Given the description of an element on the screen output the (x, y) to click on. 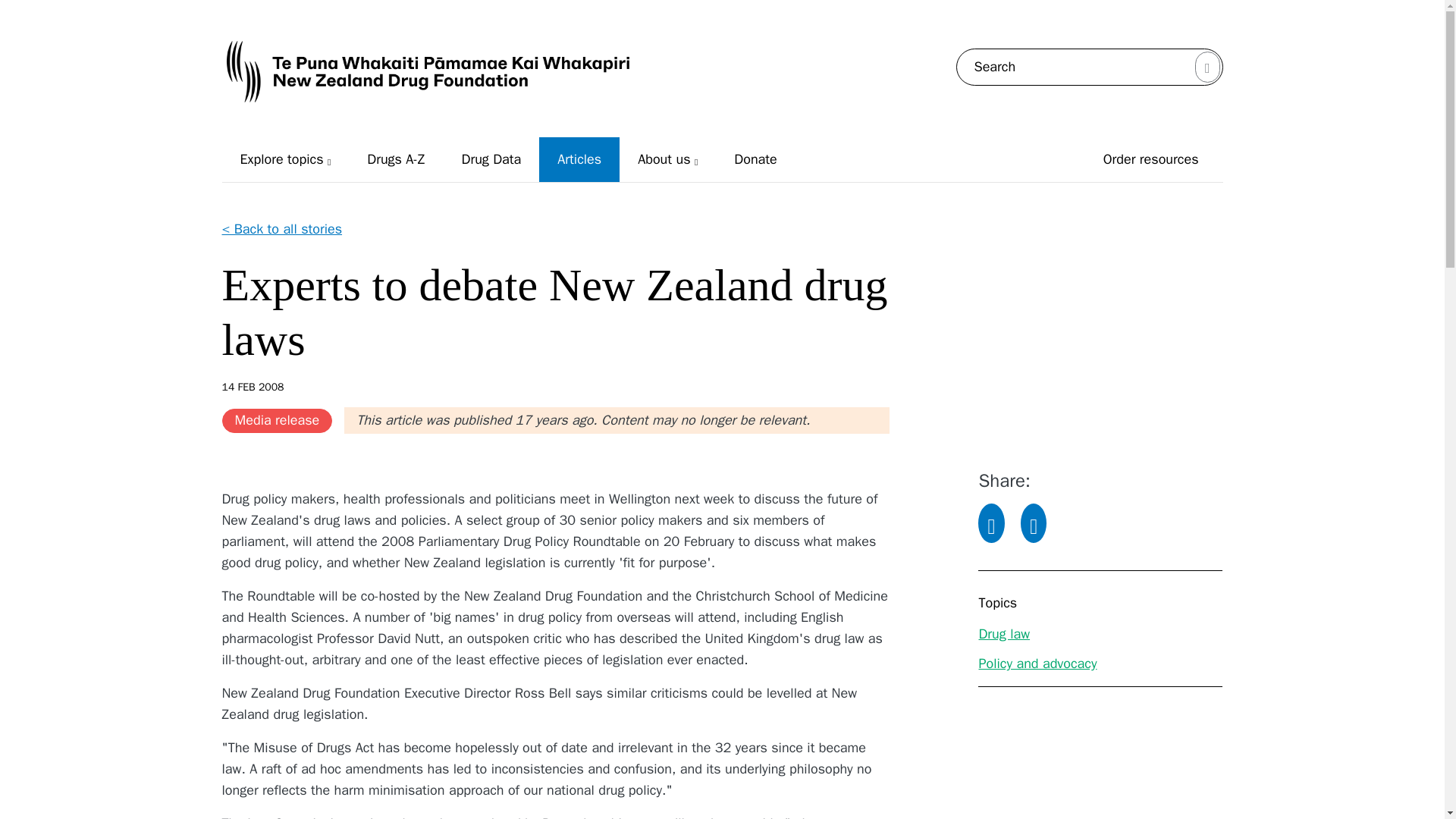
Drugs A-Z (395, 159)
Articles (579, 159)
Donate (755, 159)
Media release (276, 420)
About us (668, 159)
Drug law (1003, 633)
Explore topics (285, 159)
Drug Data (492, 159)
Order resources (1150, 159)
